Given the description of an element on the screen output the (x, y) to click on. 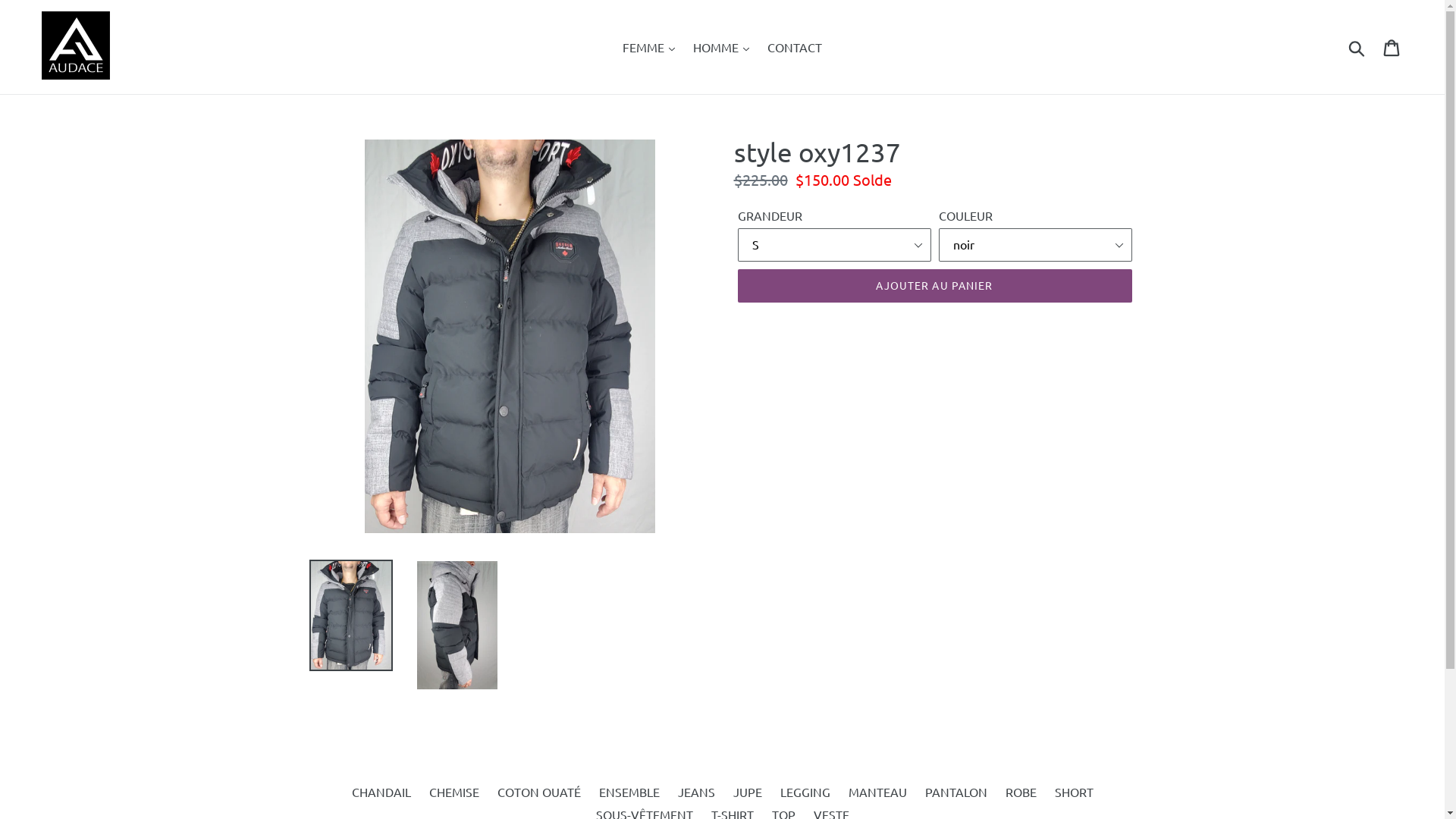
LEGGING Element type: text (804, 791)
JUPE Element type: text (746, 791)
SHORT Element type: text (1073, 791)
CHEMISE Element type: text (454, 791)
CONTACT Element type: text (794, 46)
JEANS Element type: text (696, 791)
Panier Element type: text (1392, 46)
PANTALON Element type: text (956, 791)
MANTEAU Element type: text (876, 791)
ROBE Element type: text (1020, 791)
Recherche Element type: text (1357, 46)
CHANDAIL Element type: text (381, 791)
AJOUTER AU PANIER Element type: text (934, 285)
ENSEMBLE Element type: text (629, 791)
